Given the description of an element on the screen output the (x, y) to click on. 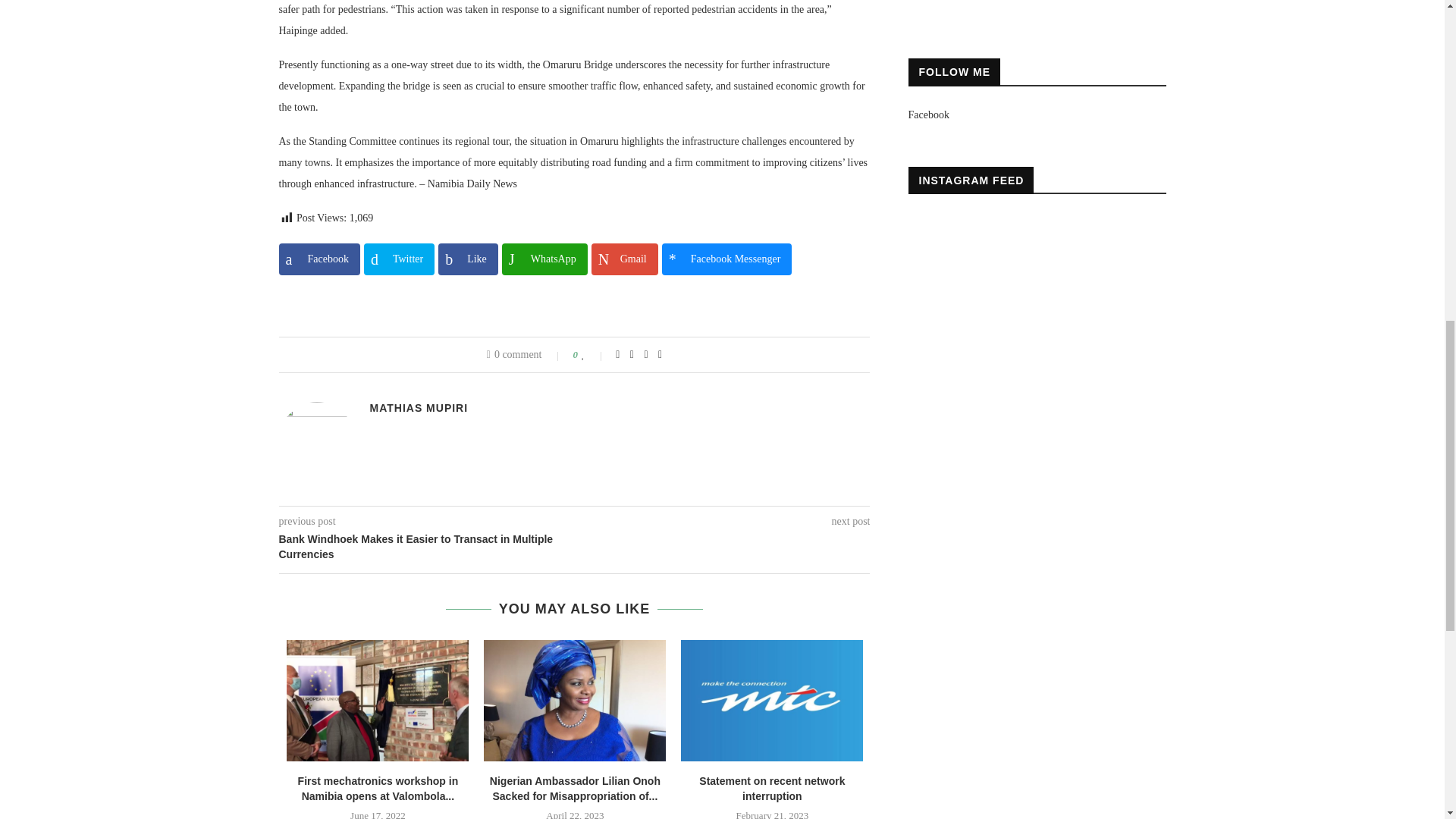
Share on WhatsApp (545, 259)
Share on Like (467, 259)
Share on Gmail (624, 259)
Share on Twitter (398, 259)
Share on Facebook (319, 259)
Share on Facebook Messenger (727, 259)
